Given the description of an element on the screen output the (x, y) to click on. 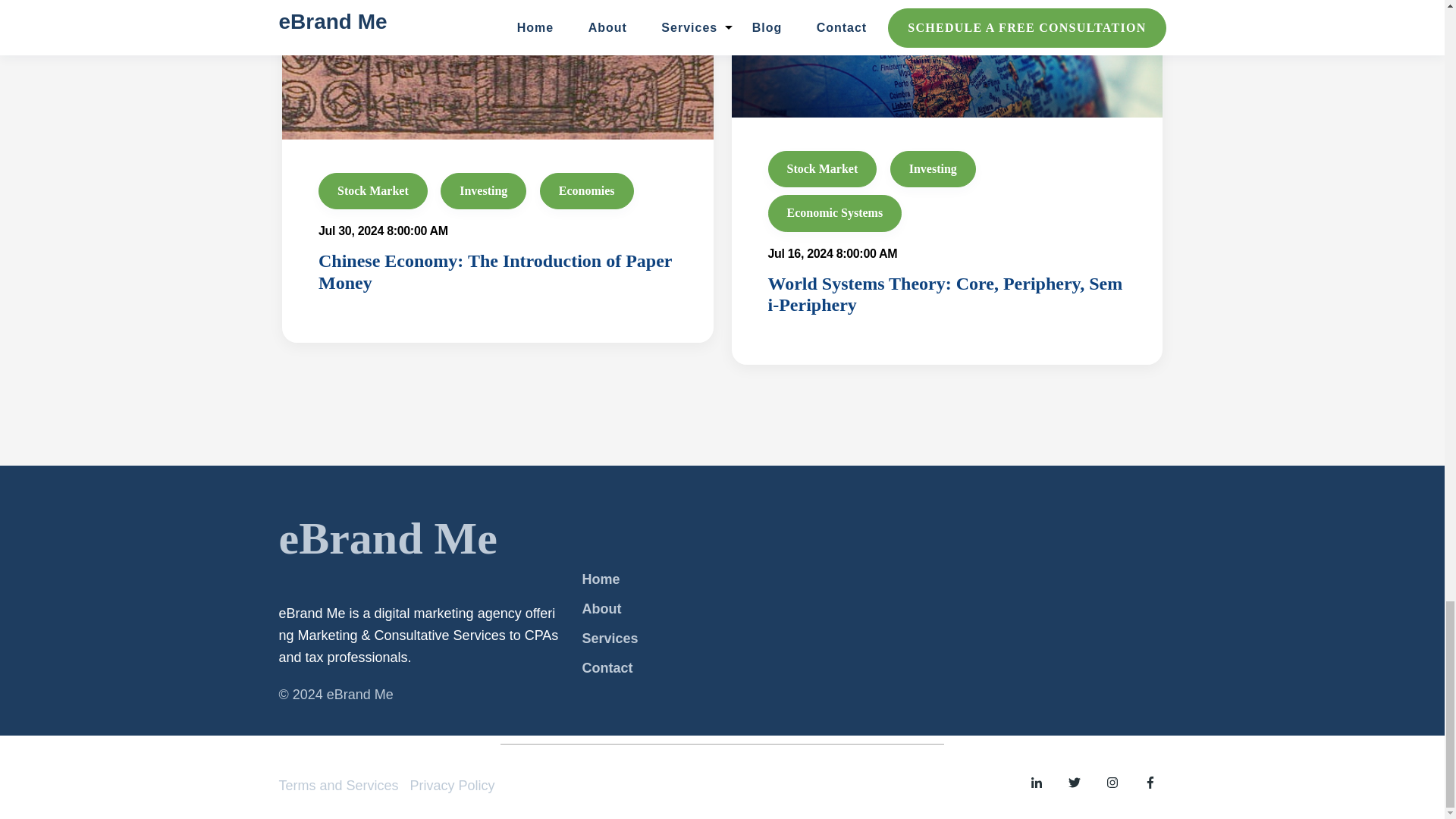
Stock Market (373, 190)
Home (600, 579)
Investing (932, 168)
About (600, 609)
Economic Systems (834, 212)
Chinese Economy: The Introduction of Paper Money (494, 271)
Stock Market (821, 168)
Services (608, 638)
Investing (483, 190)
Contact (605, 668)
